Given the description of an element on the screen output the (x, y) to click on. 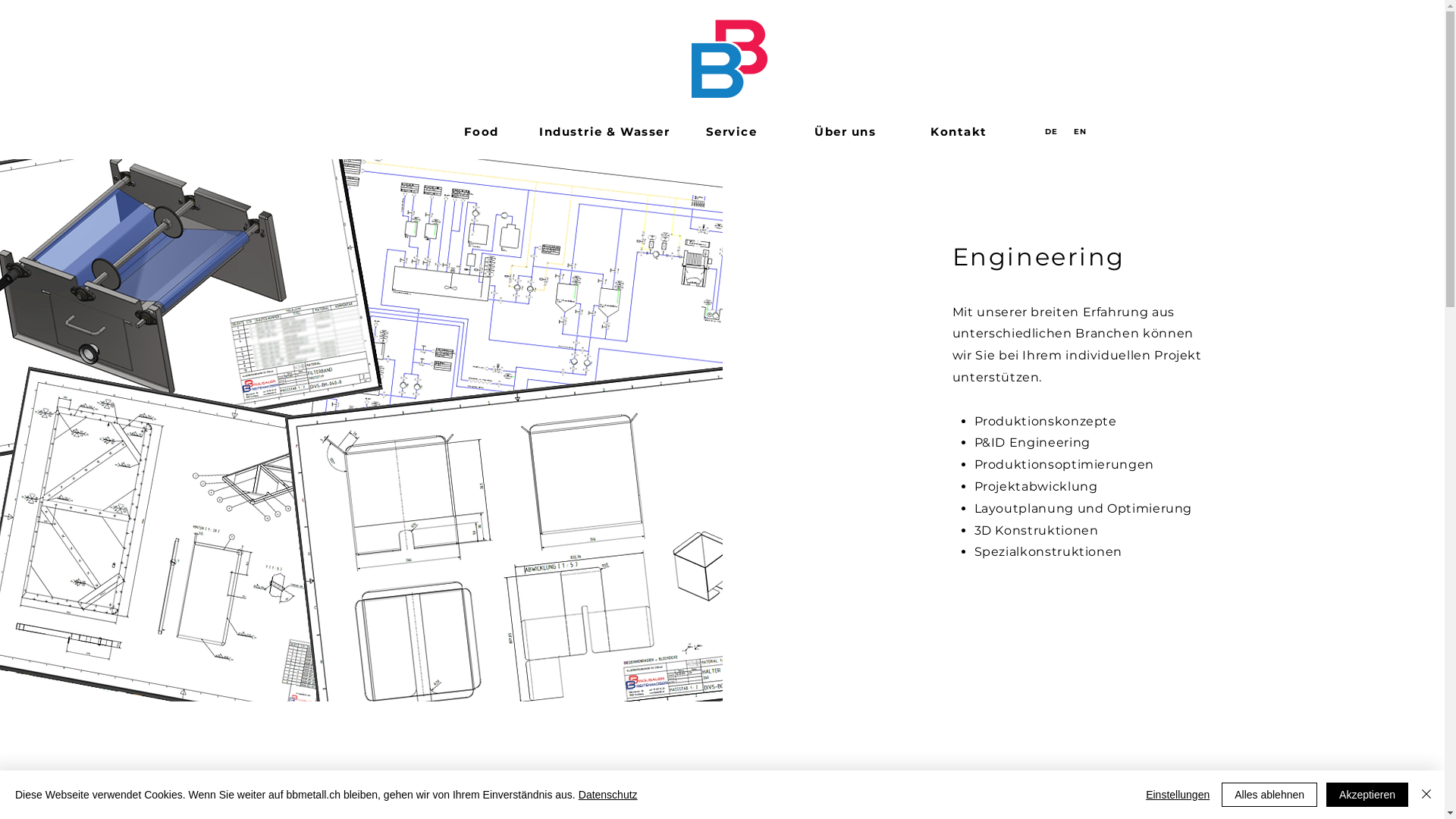
Datenschutz Element type: text (607, 794)
Akzeptieren Element type: text (1367, 794)
Kontakt Element type: text (960, 131)
Food Element type: text (482, 131)
EN Element type: text (1081, 130)
Industrie & Wasser Element type: text (605, 131)
DE Element type: text (1052, 130)
Alles ablehnen Element type: text (1269, 794)
Service Element type: text (733, 131)
